Given the description of an element on the screen output the (x, y) to click on. 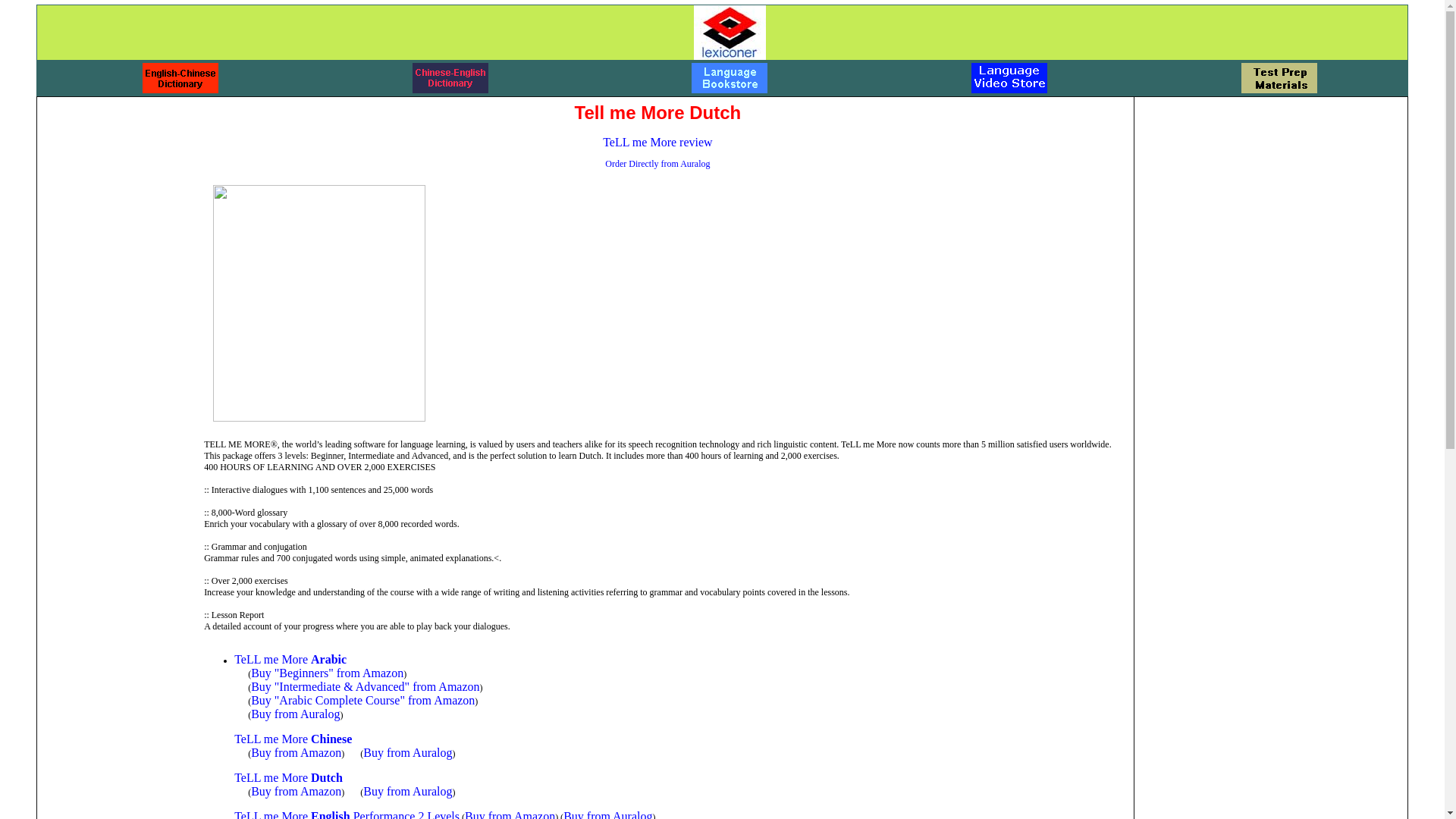
Buy from Amazon (295, 752)
With 90 days Money Back Guarantee (607, 814)
Buy from Amazon (509, 814)
With 90 days Money Back Guarantee (406, 752)
Buy "Arabic Complete Course" from Amazon (362, 699)
Buy from Auralog (294, 713)
TeLL me More Chinese (293, 738)
TeLL me More Arabic (290, 658)
Buy "Beginners" from Amazon (326, 672)
Order Directly from Auralog (657, 162)
